Given the description of an element on the screen output the (x, y) to click on. 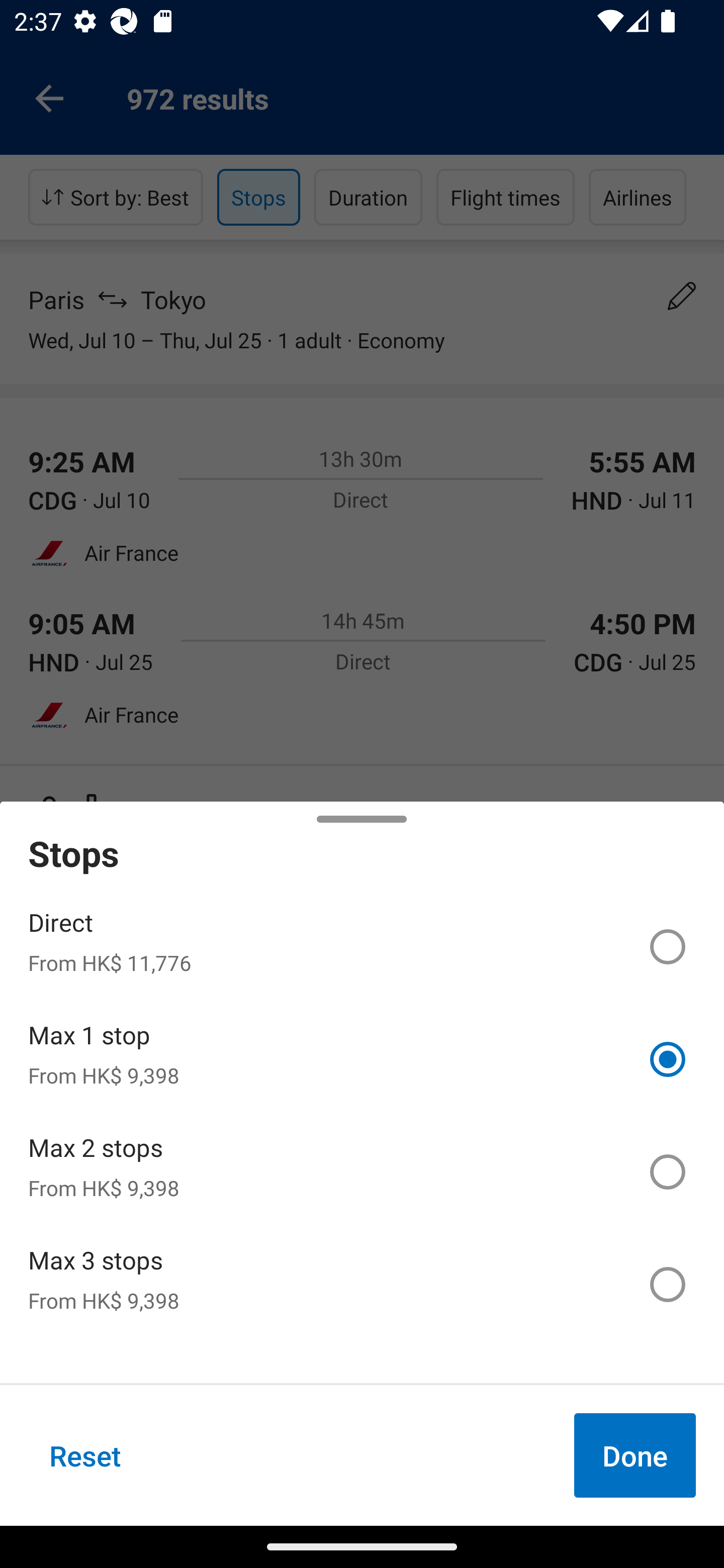
Direct From HK$ 11,776 (362, 946)
Max 1 stop From HK$ 9,398 (362, 1059)
Max 2 stops From HK$ 9,398 (362, 1171)
Max 3 stops From HK$ 9,398 (362, 1283)
Reset (85, 1454)
Done (634, 1454)
